Given the description of an element on the screen output the (x, y) to click on. 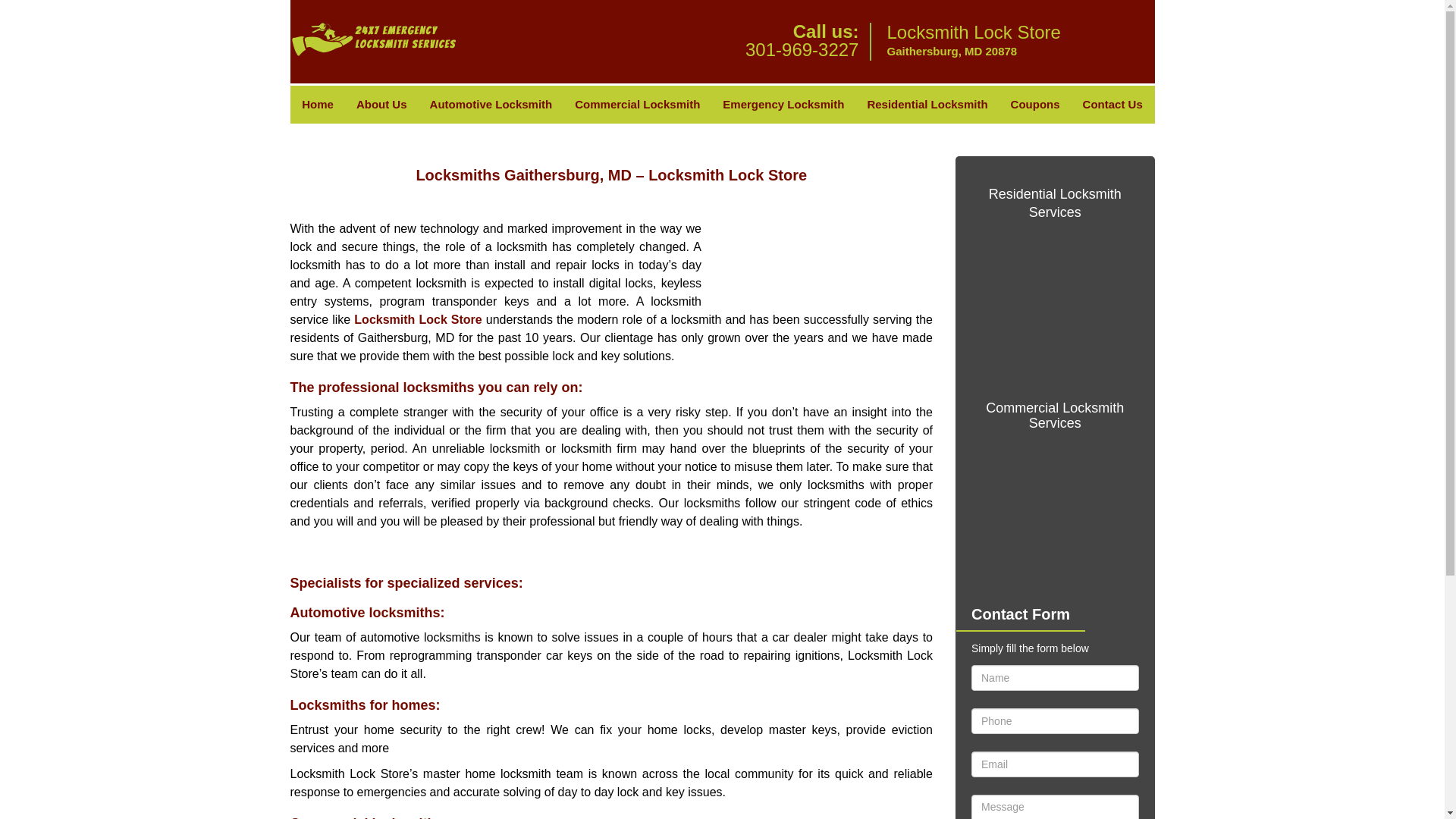
Locksmith Lock Store (417, 318)
Home (317, 104)
Phone Field required (1054, 720)
Automotive Locksmith (491, 104)
Message Field require (1054, 806)
Commercial Locksmith Services (1054, 416)
Commercial Locksmith (637, 104)
Email Field required (1054, 764)
Name Field required (1054, 678)
301-969-3227 (802, 49)
Contact Us (1112, 104)
Coupons (1034, 104)
Emergency Locksmith (783, 104)
About Us (382, 104)
Residential Locksmith (927, 104)
